Given the description of an element on the screen output the (x, y) to click on. 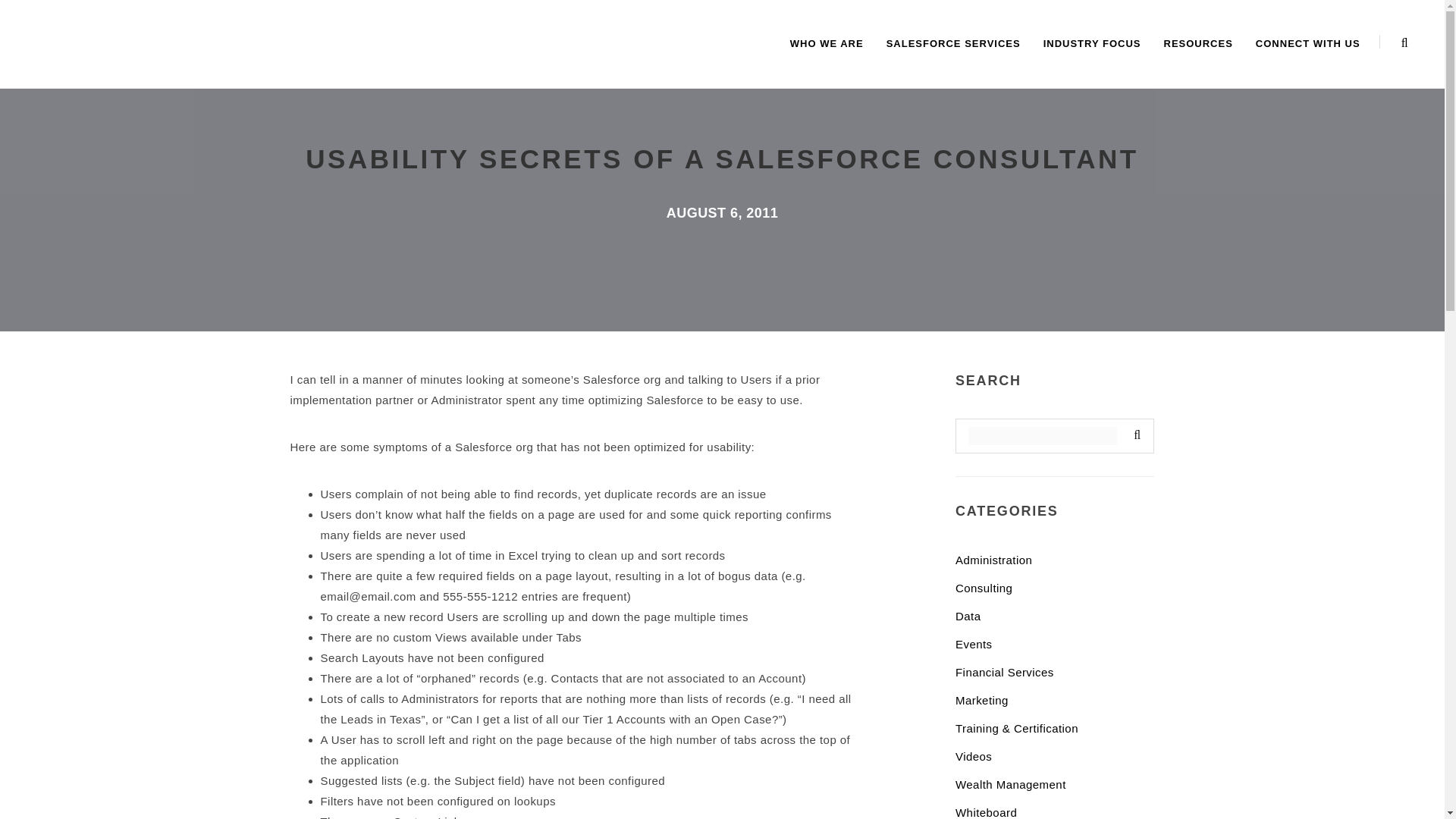
ShellBlack (52, 40)
WHO WE ARE (826, 44)
SALESFORCE SERVICES (953, 44)
RESOURCES (1198, 44)
INDUSTRY FOCUS (1092, 44)
Search (1134, 435)
